Given the description of an element on the screen output the (x, y) to click on. 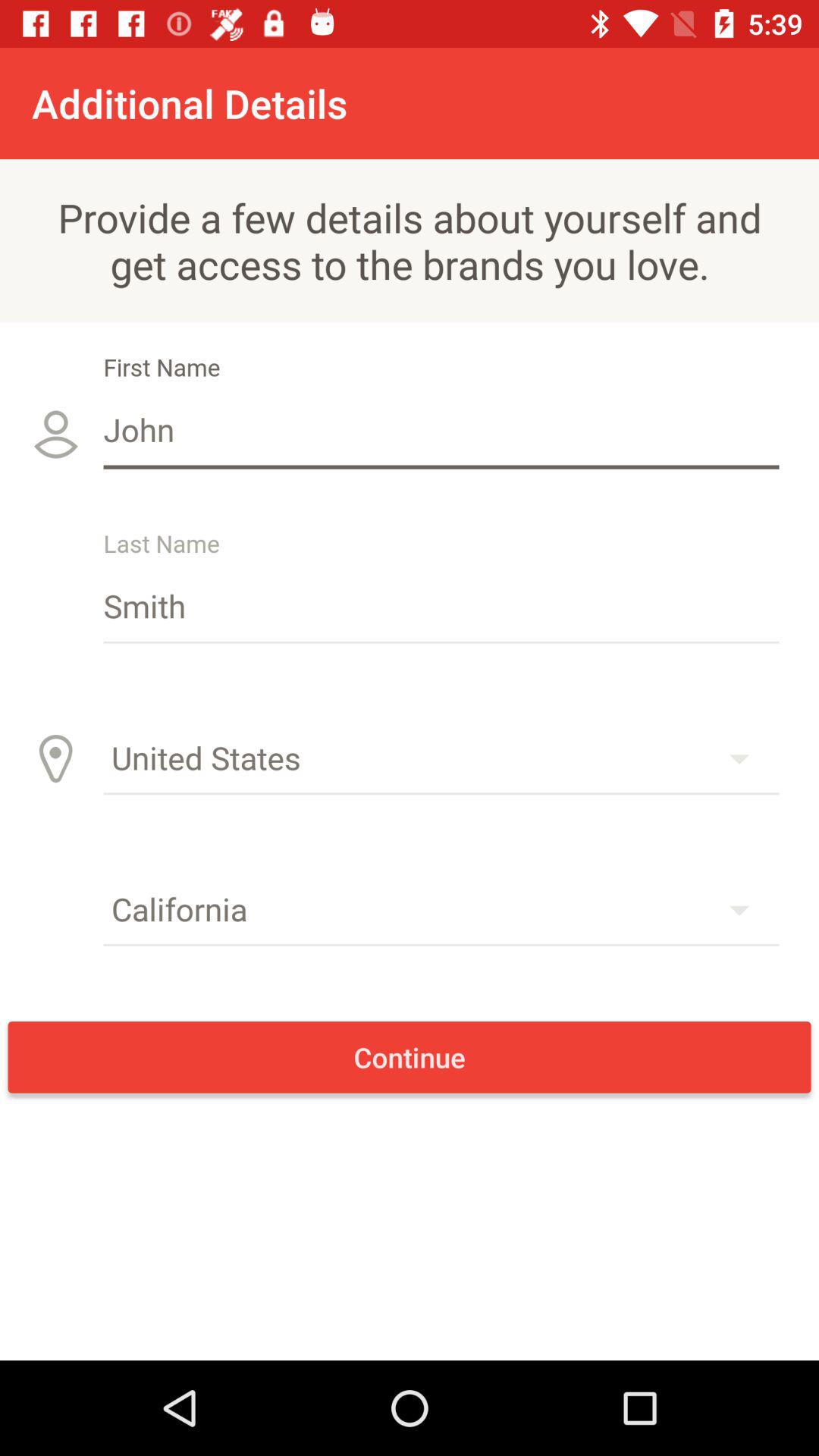
press the smith icon (441, 605)
